Given the description of an element on the screen output the (x, y) to click on. 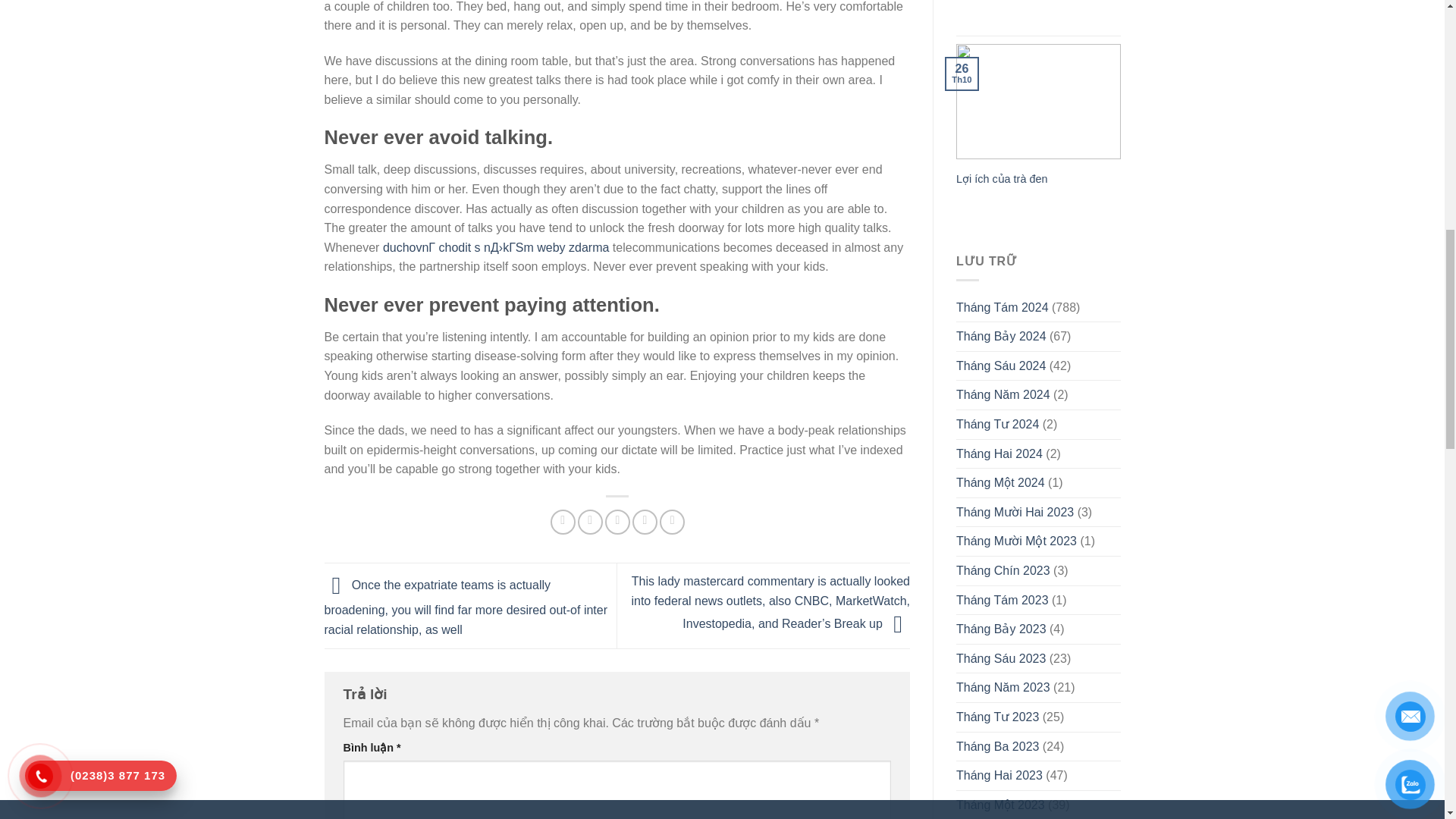
Share on LinkedIn (671, 521)
Email to a Friend (617, 521)
Share on Twitter (590, 521)
Share on Facebook (562, 521)
Pin on Pinterest (644, 521)
